Given the description of an element on the screen output the (x, y) to click on. 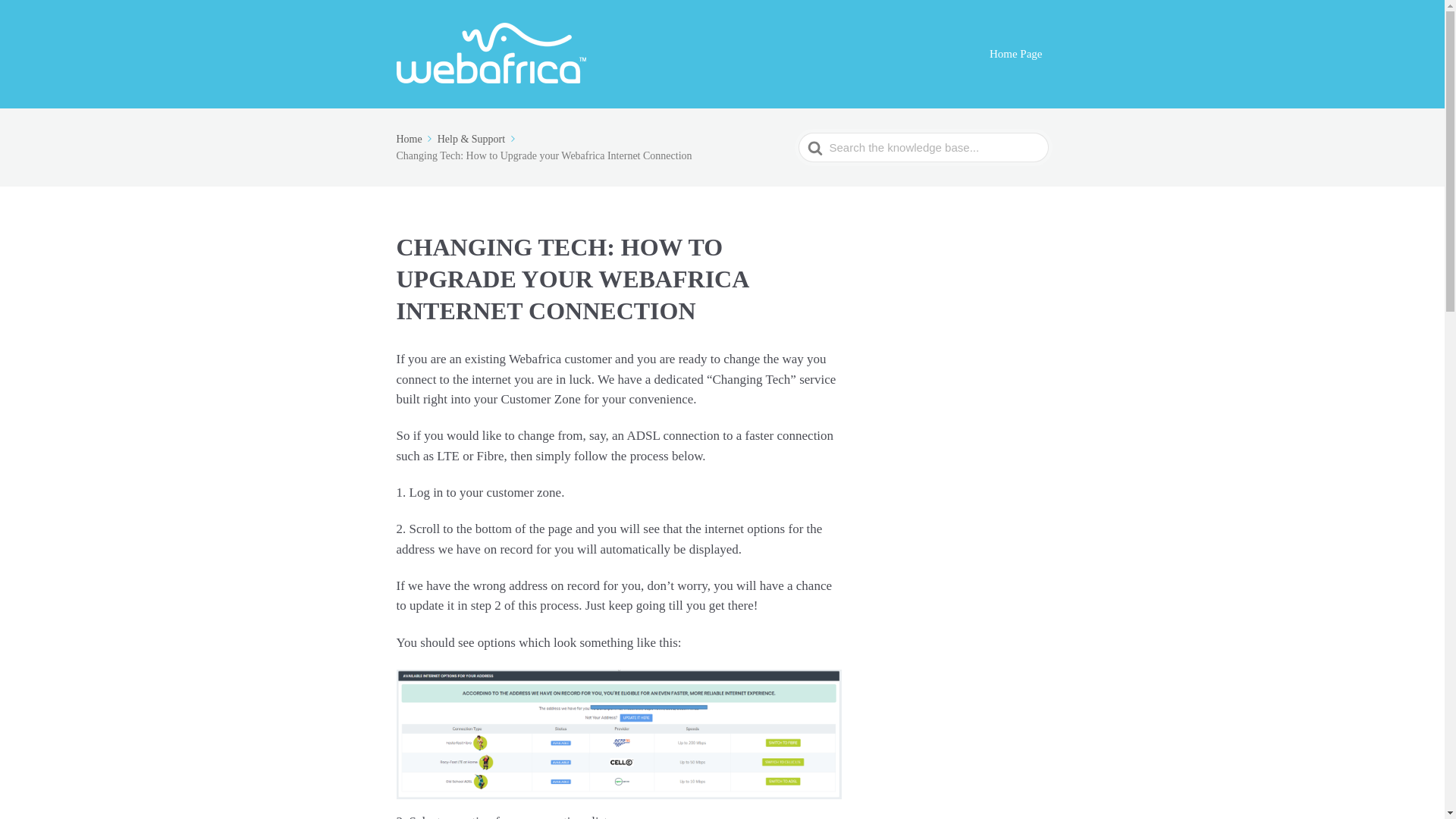
Home (414, 138)
Home Page (1016, 54)
